Given the description of an element on the screen output the (x, y) to click on. 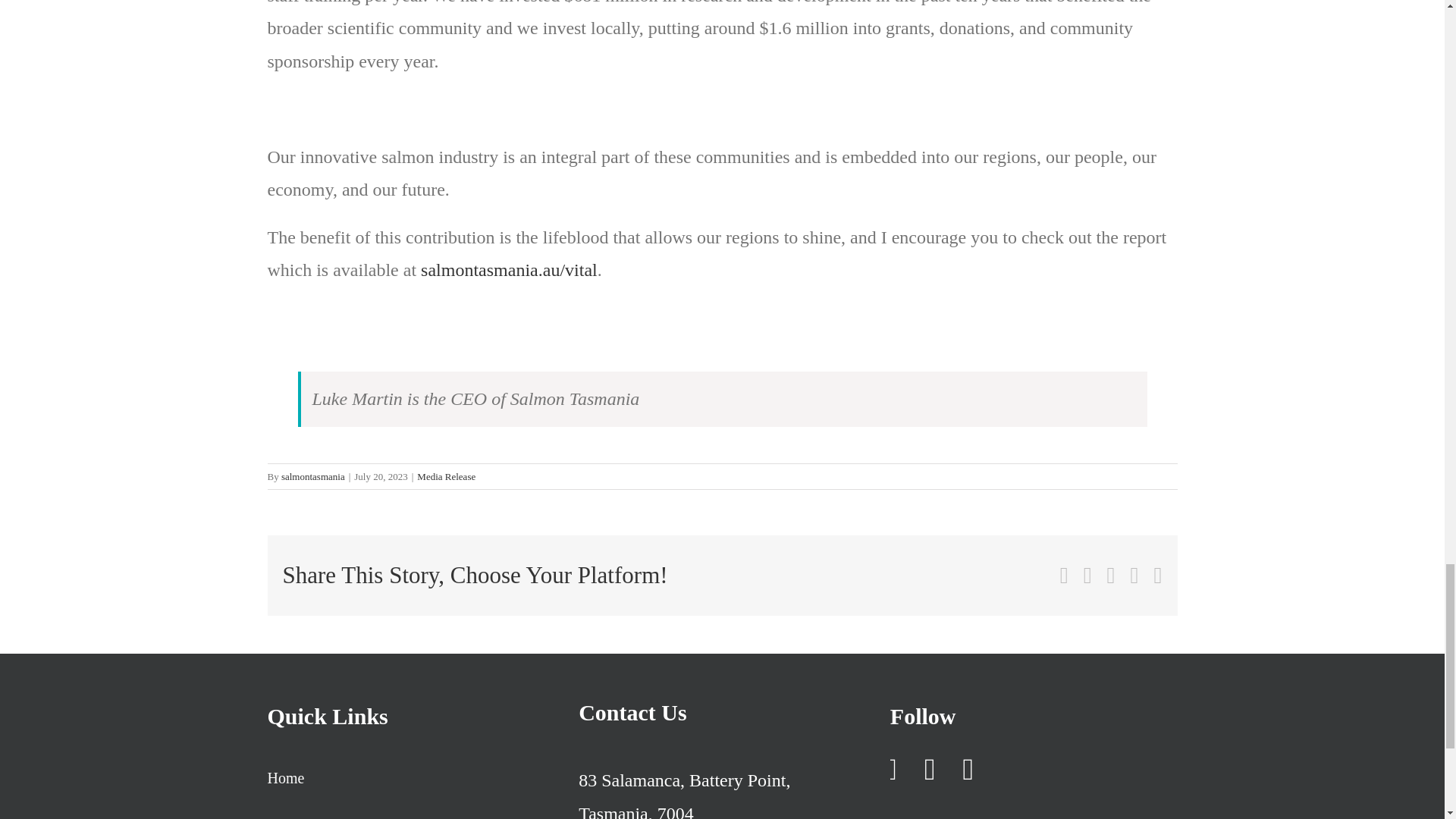
About Us (409, 810)
Posts by salmontasmania (313, 476)
Media Release (446, 476)
Home (409, 778)
salmontasmania (313, 476)
